Given the description of an element on the screen output the (x, y) to click on. 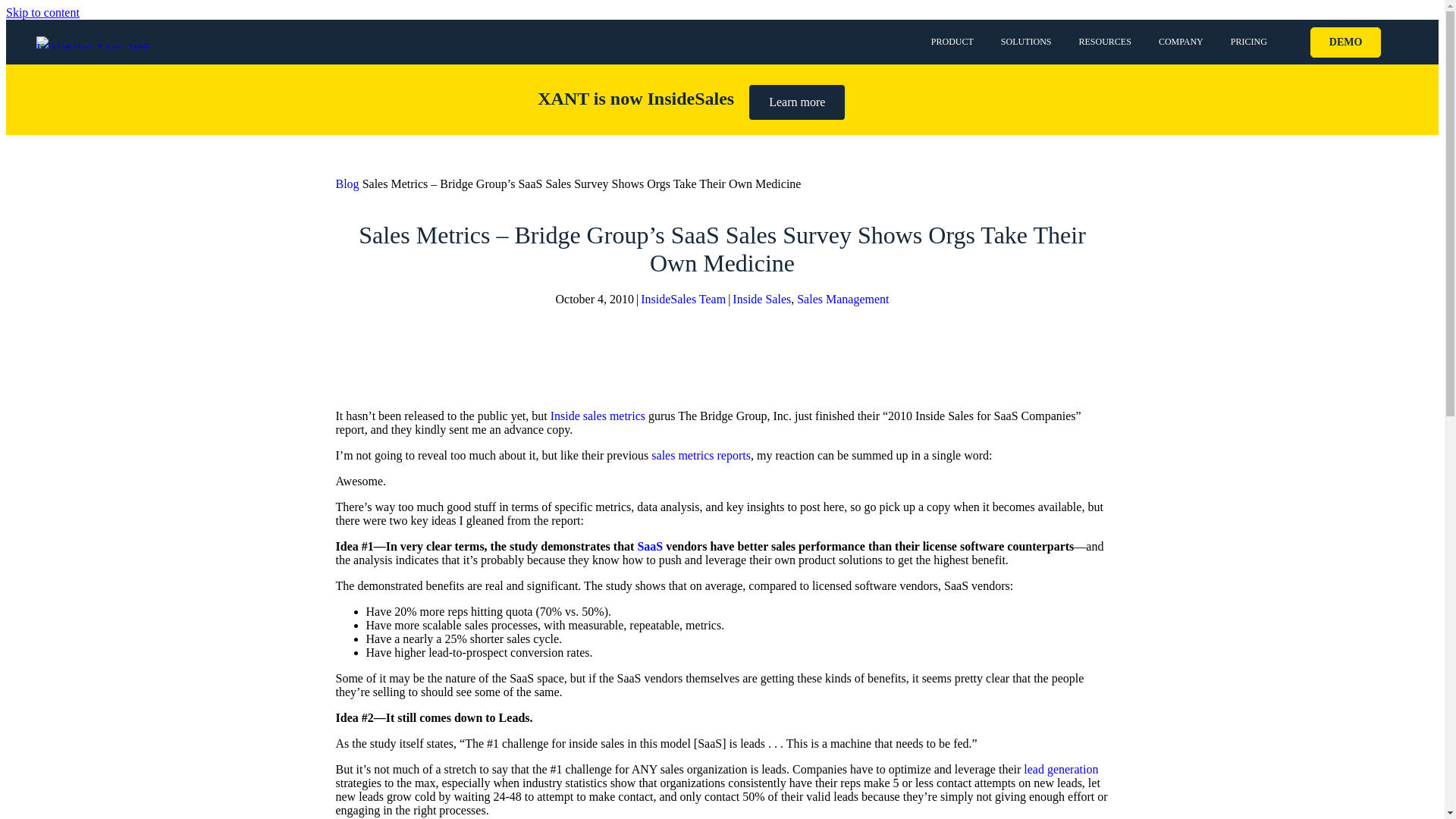
SOLUTIONS (1025, 41)
RESOURCES (1104, 41)
Skip to content (42, 11)
PRODUCT (952, 41)
